Given the description of an element on the screen output the (x, y) to click on. 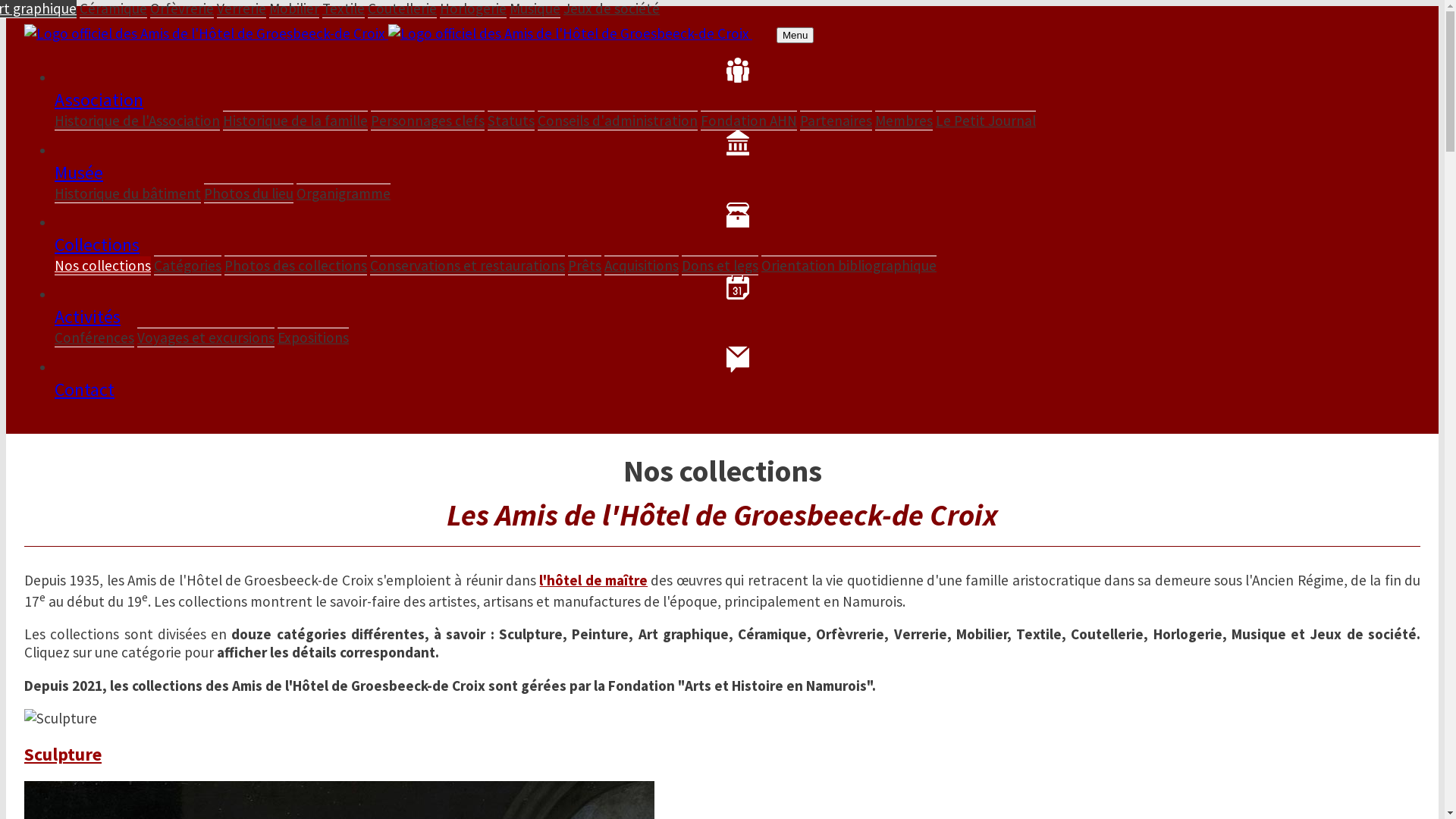
Personnages clefs Element type: text (427, 120)
Nos collections Element type: text (102, 265)
Dons et legs Element type: text (719, 265)
Historique de la famille Element type: text (294, 120)
Acquisitions Element type: text (641, 265)
Sculpture Element type: text (722, 753)
Orientation bibliographique Element type: text (848, 264)
Le Petit Journal Element type: text (985, 119)
Menu Element type: text (794, 35)
Partenaires Element type: text (836, 120)
Conseils d'administration Element type: text (617, 120)
Organigramme Element type: text (343, 192)
Collections Element type: text (737, 229)
Voyages et excursions Element type: text (205, 337)
Association Element type: text (737, 84)
Expositions Element type: text (312, 336)
Conservations et restaurations Element type: text (467, 265)
Historique de l'Association Element type: text (136, 120)
Statuts Element type: text (510, 120)
Contact Element type: text (737, 373)
Photos des collections Element type: text (295, 265)
Membres Element type: text (903, 120)
Photos du lieu Element type: text (248, 193)
Fondation AHN Element type: text (748, 120)
